Given the description of an element on the screen output the (x, y) to click on. 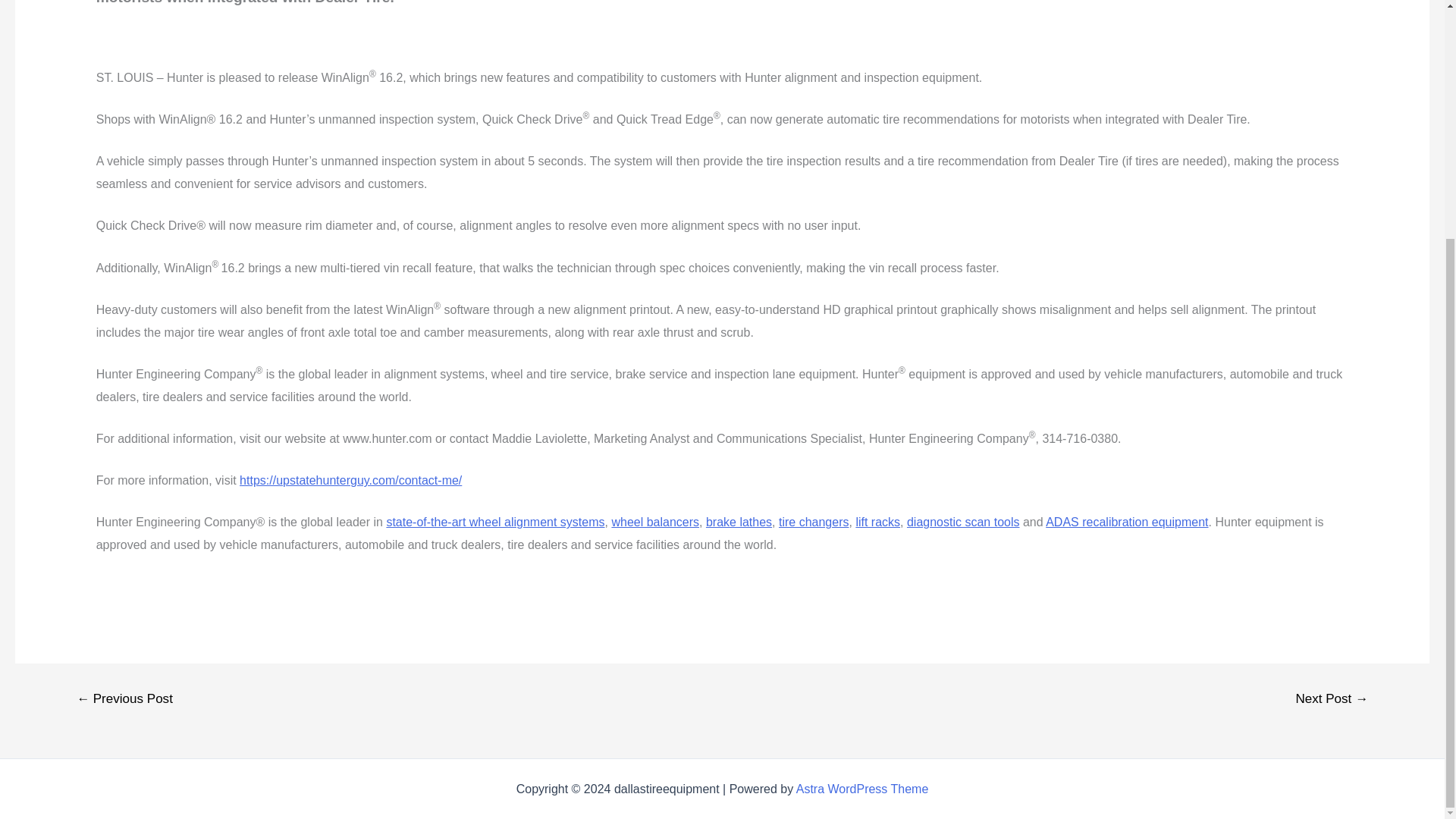
state-of-the-art wheel alignment systems (494, 521)
tire changers (813, 521)
lift racks (877, 521)
Astra WordPress Theme (862, 788)
brake lathes (738, 521)
wheel balancers (654, 521)
diagnostic scan tools (963, 521)
ADAS recalibration equipment (1126, 521)
